Given the description of an element on the screen output the (x, y) to click on. 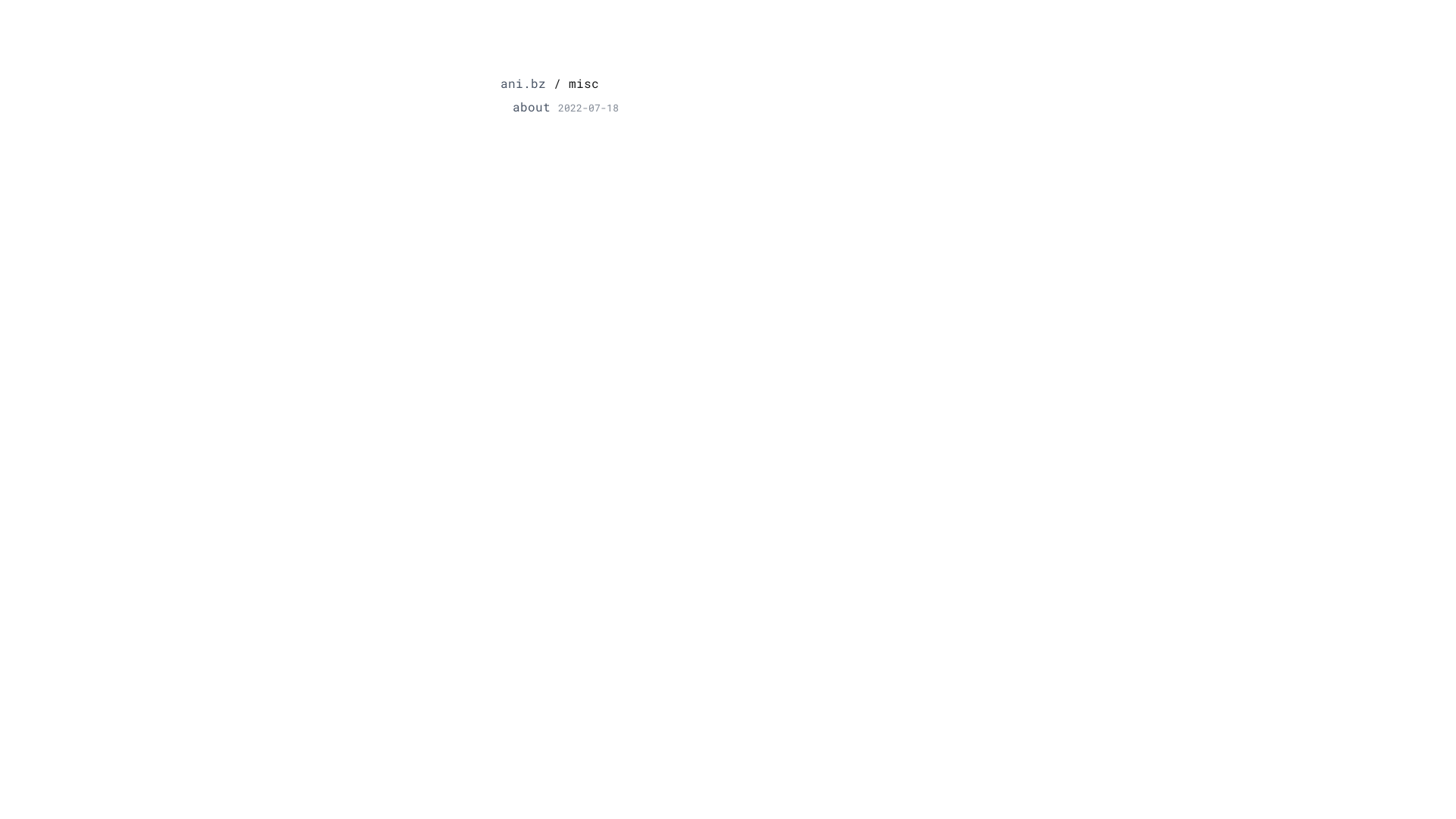
about2022-07-18 Element type: text (565, 106)
ani.bz Element type: text (523, 83)
